Given the description of an element on the screen output the (x, y) to click on. 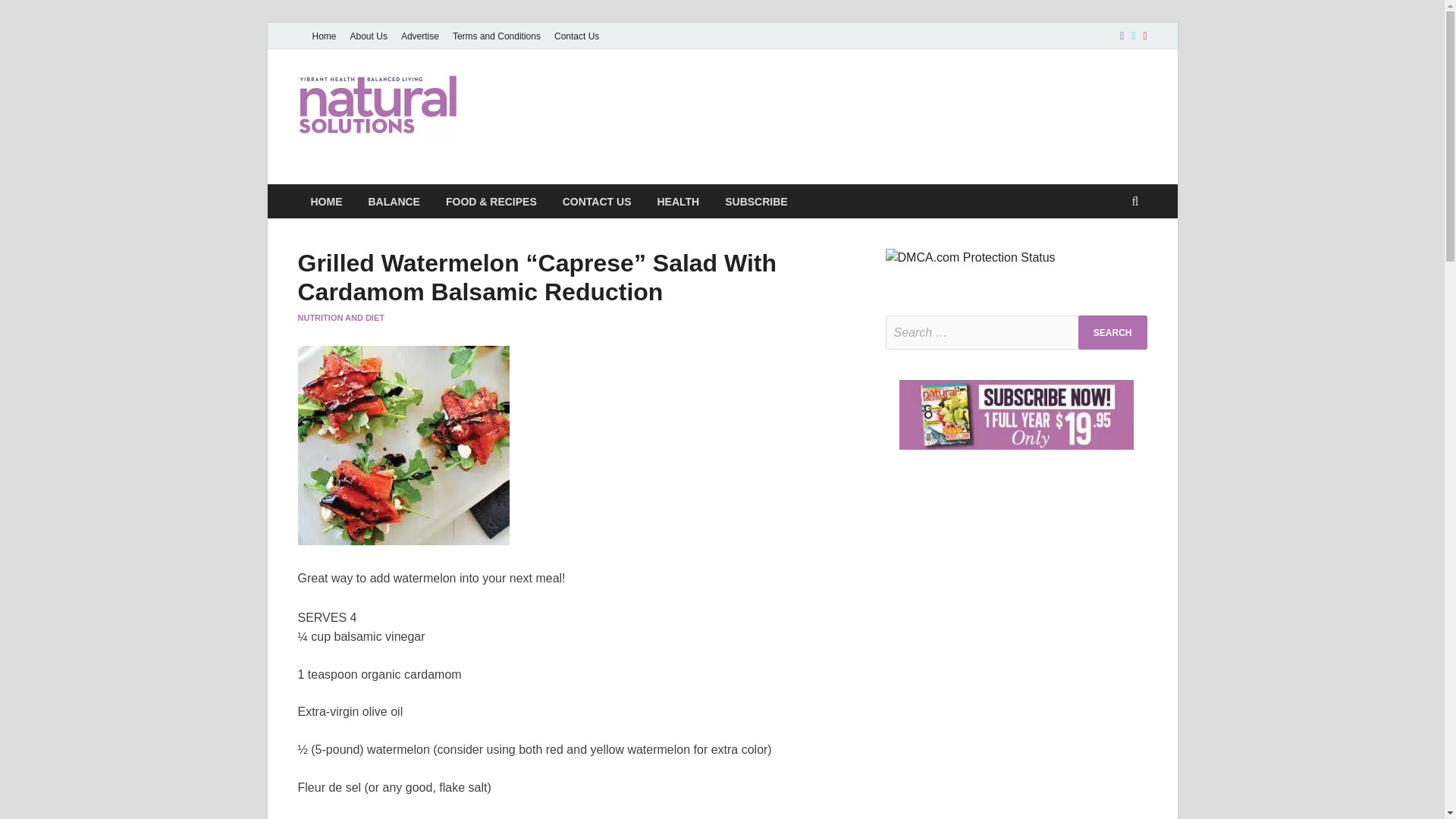
DMCA.com Protection Status (970, 256)
NUTRITION AND DIET (340, 317)
Search (1112, 332)
CONTACT US (597, 201)
Home (323, 35)
Terms and Conditions (496, 35)
HEALTH (677, 201)
SUBSCRIBE (755, 201)
Search (1112, 332)
BALANCE (393, 201)
